Given the description of an element on the screen output the (x, y) to click on. 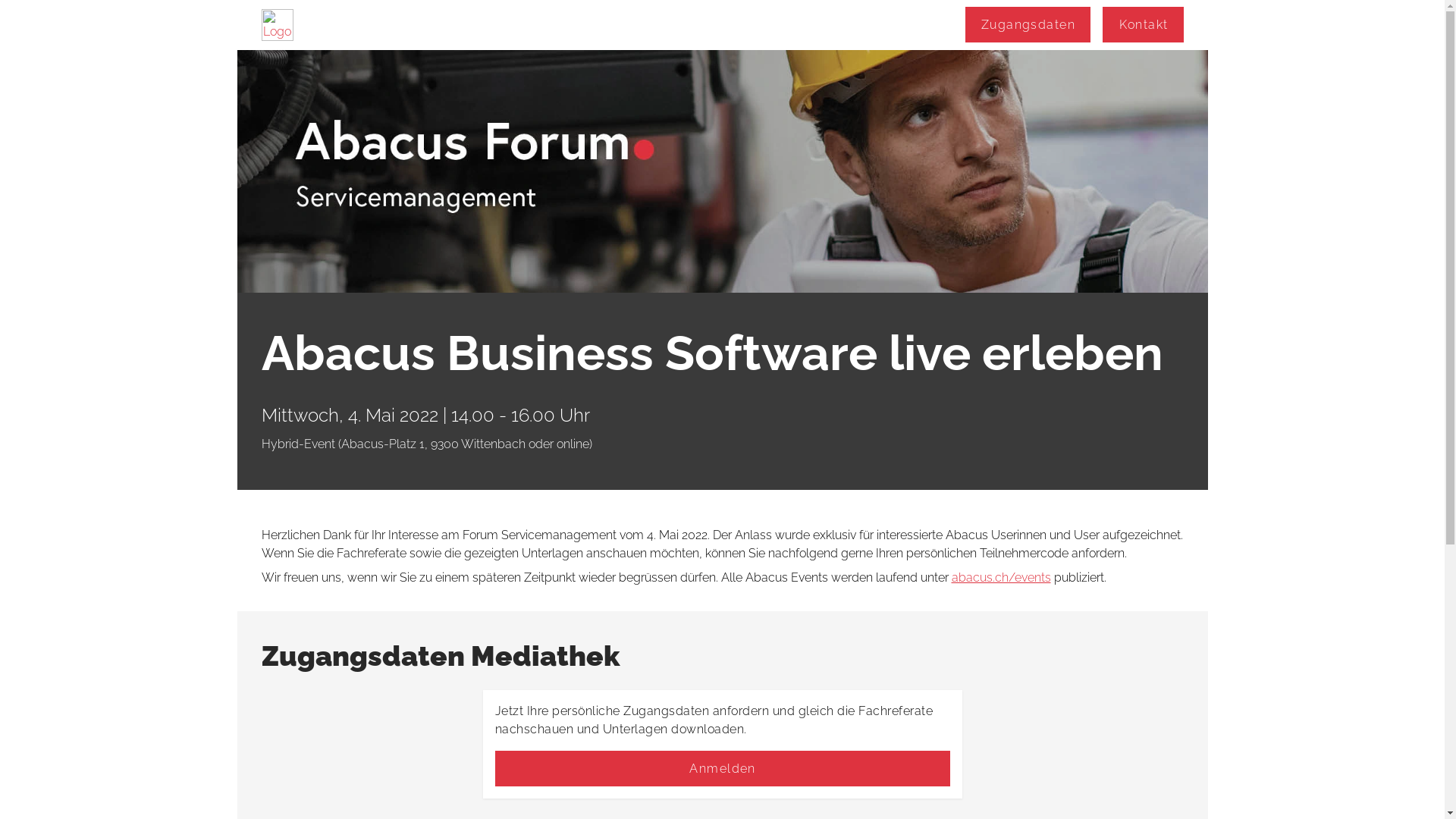
Anmelden Element type: text (721, 768)
Zugangsdaten Element type: text (1027, 24)
abacus.ch/events Element type: text (1000, 577)
Kontakt Element type: text (1142, 24)
